Given the description of an element on the screen output the (x, y) to click on. 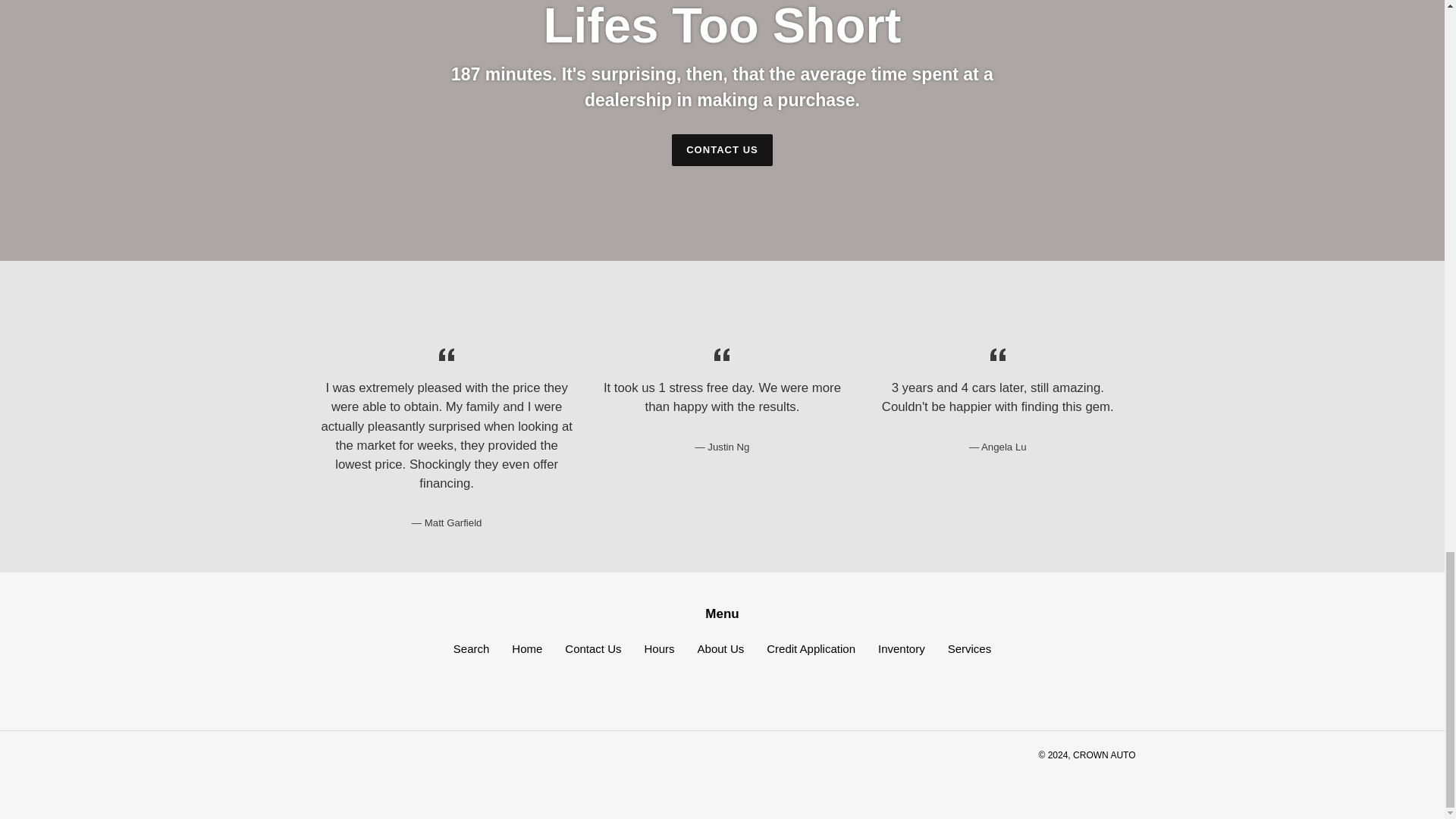
CONTACT US (722, 150)
Services (969, 648)
Credit Application (811, 648)
Hours (660, 648)
Contact Us (592, 648)
Inventory (900, 648)
Search (470, 648)
Home (526, 648)
About Us (720, 648)
